Given the description of an element on the screen output the (x, y) to click on. 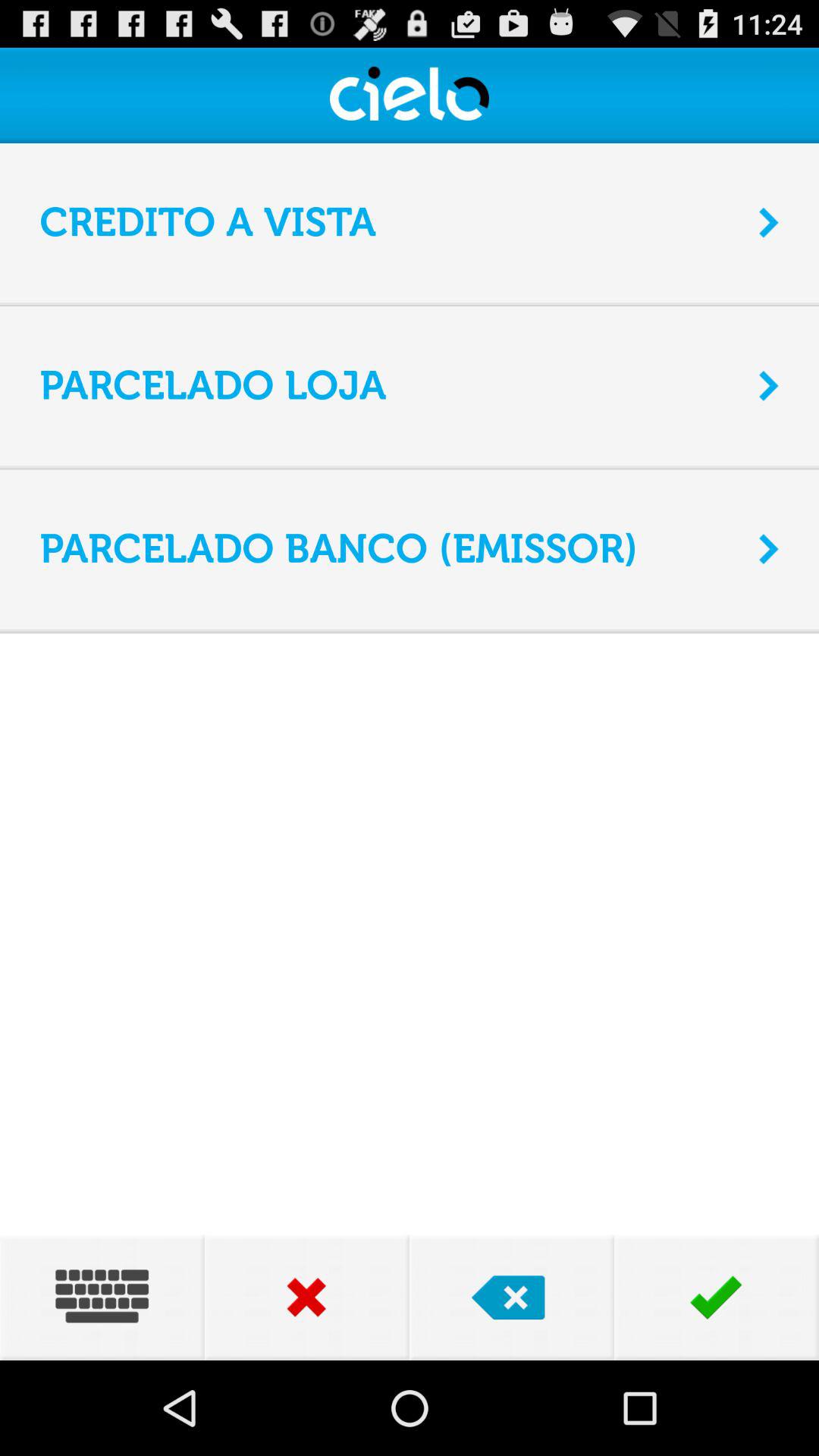
scroll to the credito a vista icon (389, 222)
